Given the description of an element on the screen output the (x, y) to click on. 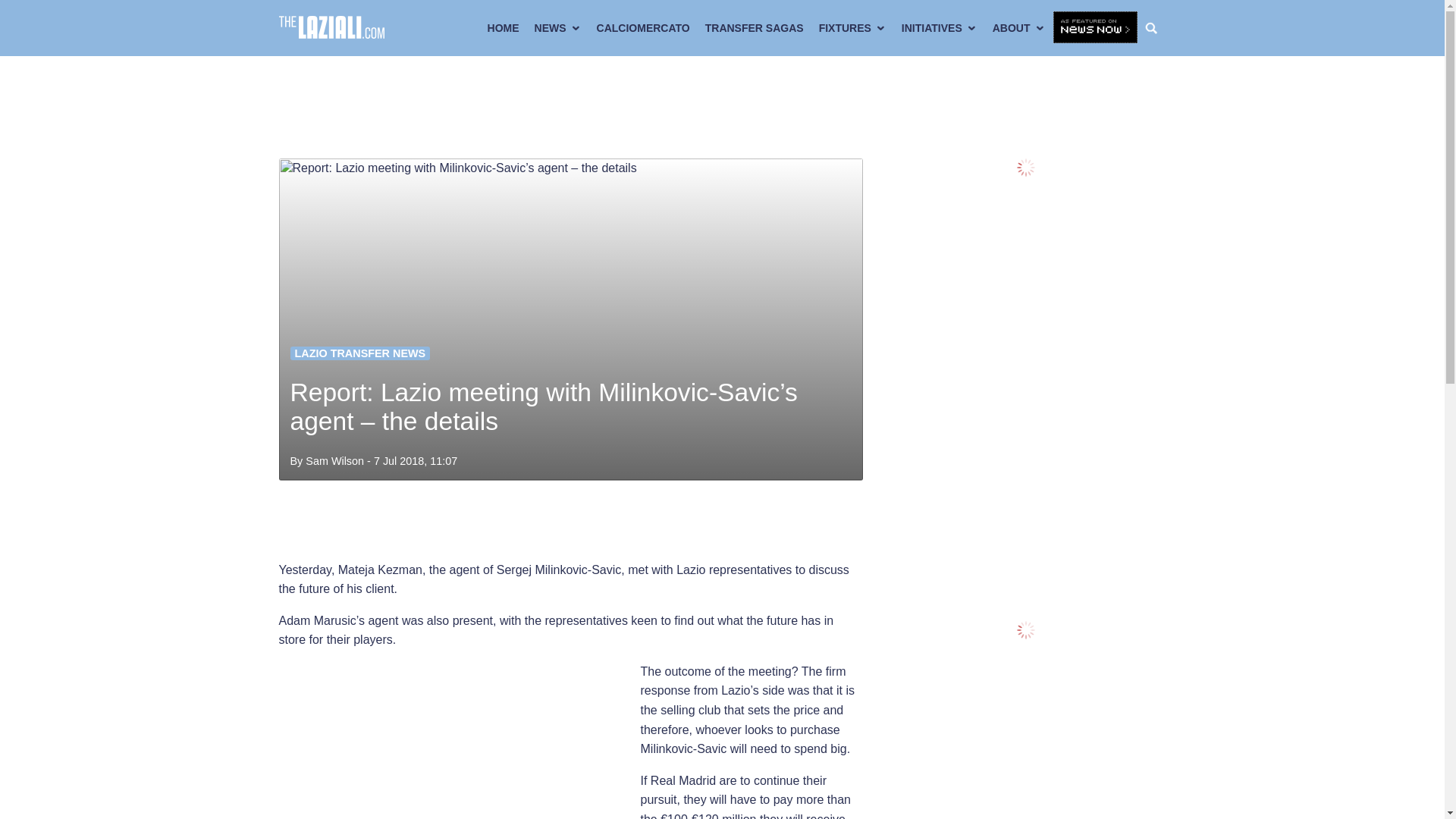
ABOUT (1018, 28)
NEWS (558, 28)
Click here for more Lazio news from NewsNow (1094, 28)
Latest Lazio Transfer News News (359, 353)
HOME (503, 28)
FIXTURES (851, 28)
TRANSFER SAGAS (753, 28)
Search (1155, 28)
CALCIOMERCATO (643, 28)
INITIATIVES (939, 28)
